Given the description of an element on the screen output the (x, y) to click on. 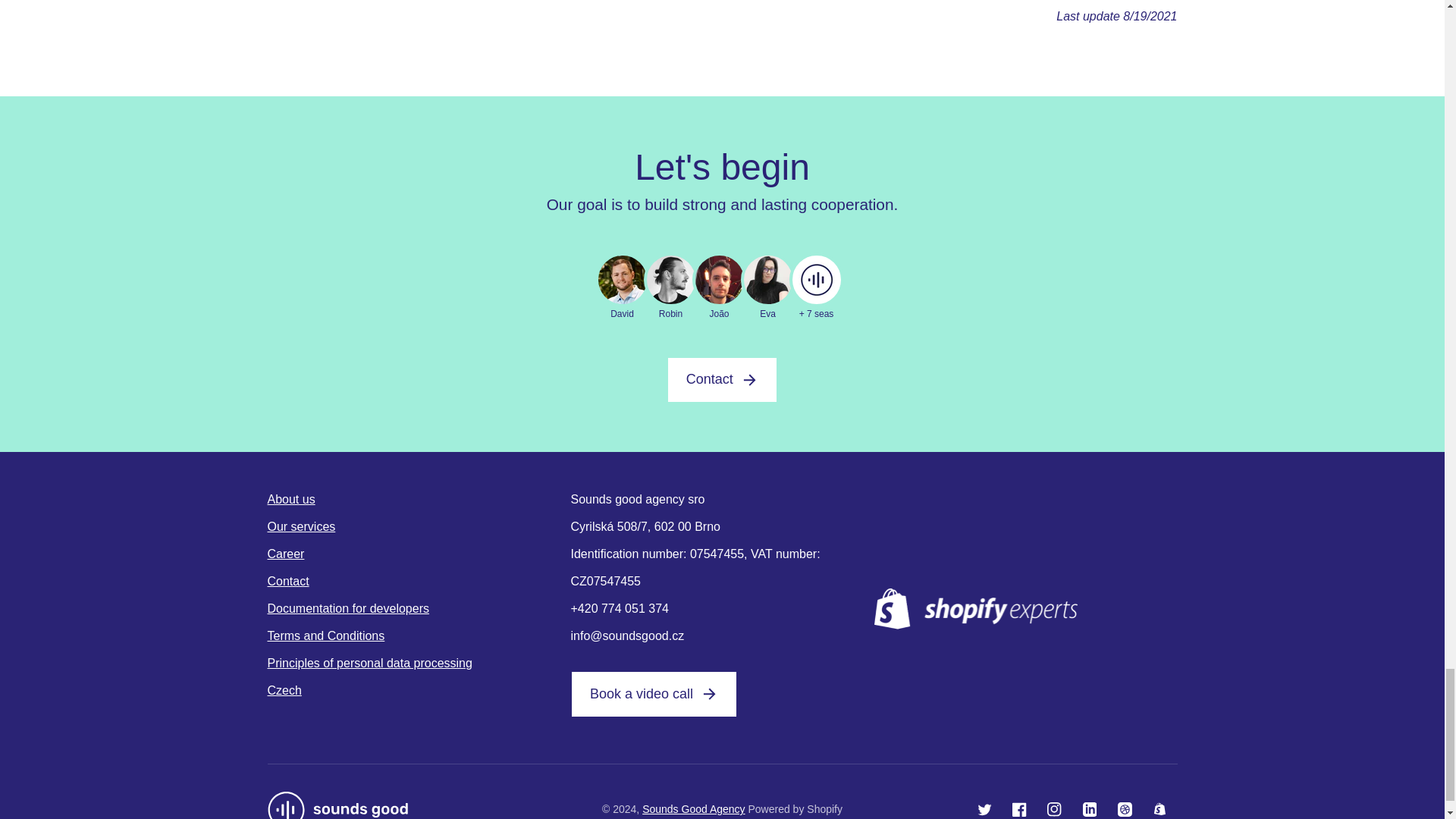
About us (418, 499)
Our services (418, 526)
Contact (722, 379)
Career (418, 554)
Documentation for developers (418, 608)
Book a video call (653, 694)
Contact (418, 581)
Sounds Good Agency (693, 808)
Czech (418, 687)
Principles of personal data processing (418, 663)
Terms and Conditions (418, 636)
Book a video call (653, 694)
Contact (722, 379)
